Given the description of an element on the screen output the (x, y) to click on. 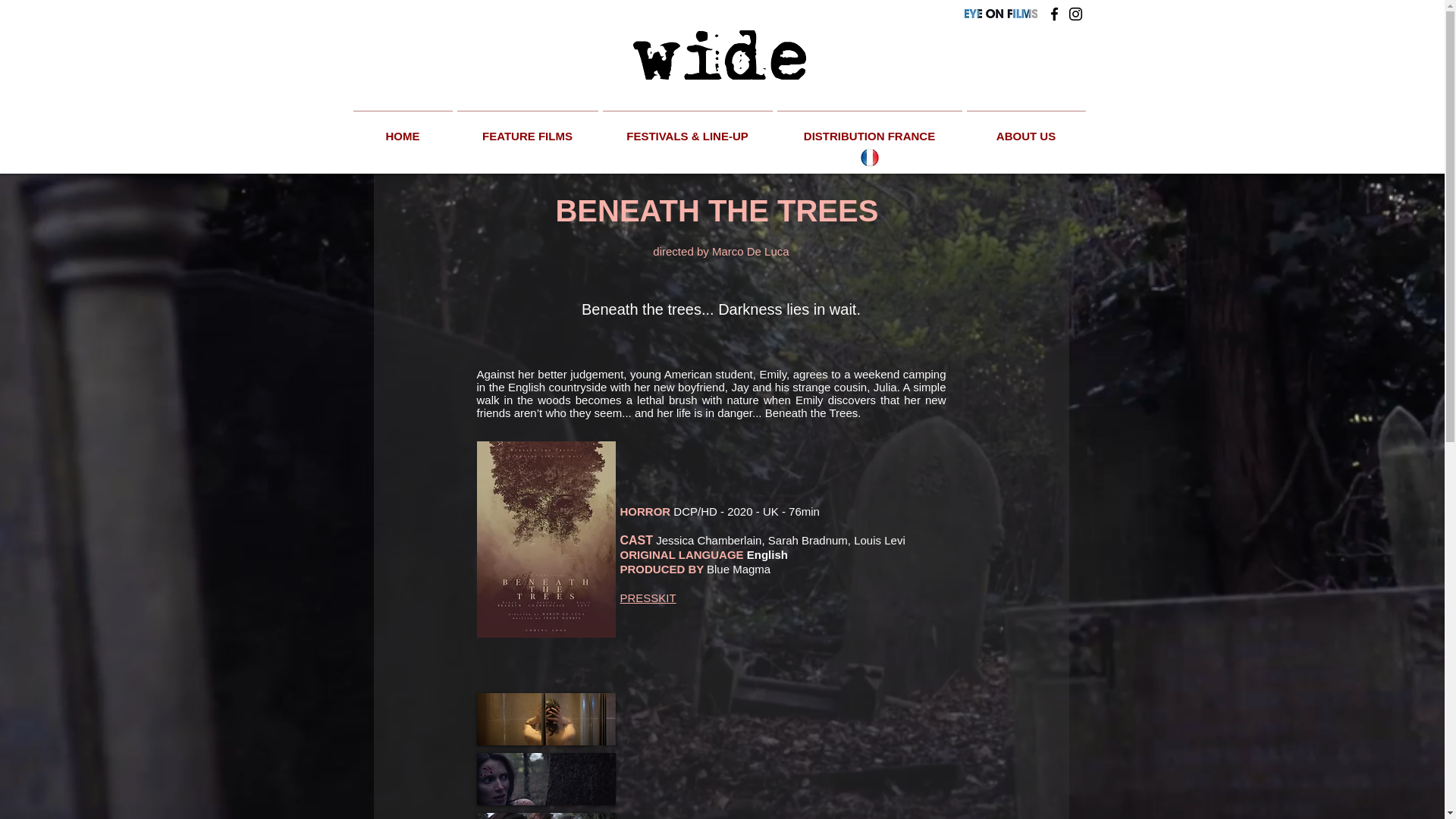
DISTRIBUTION FRANCE (868, 129)
Eye on Films logo fond blanc.jpg (999, 13)
FEATURE FILMS (526, 129)
ABOUT US (1025, 129)
PRESSKIT (648, 597)
HOME (402, 129)
External Vimeo (783, 741)
